Given the description of an element on the screen output the (x, y) to click on. 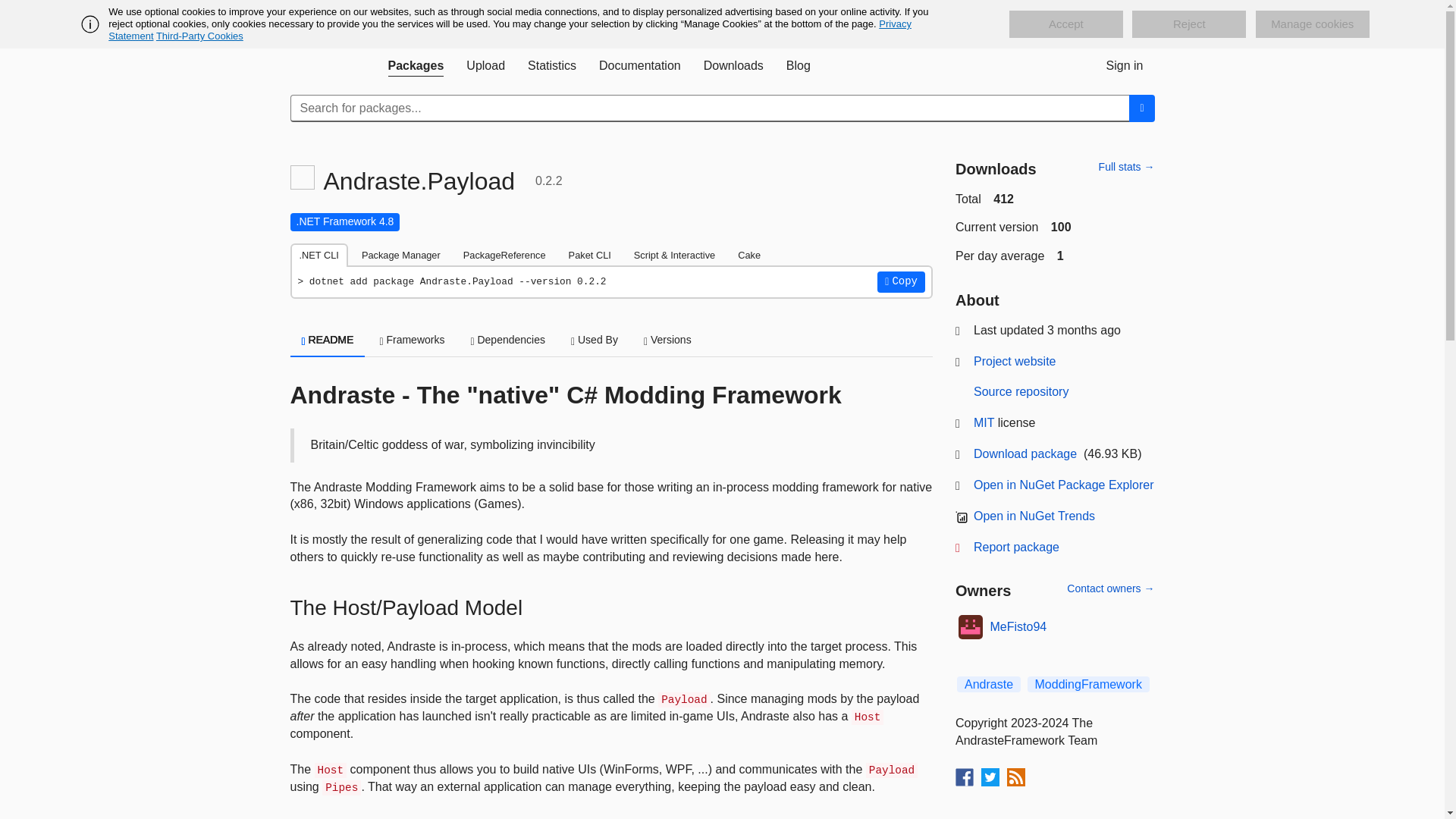
Sign in (1124, 65)
.NET Framework 4.8 (343, 221)
Packages (414, 65)
Privacy Statement (509, 29)
Used By (593, 341)
Reject (1189, 23)
.NET CLI (318, 254)
PackageReference (504, 254)
Documentation (640, 65)
Upload (485, 65)
Statistics (552, 65)
Blog (798, 65)
